Given the description of an element on the screen output the (x, y) to click on. 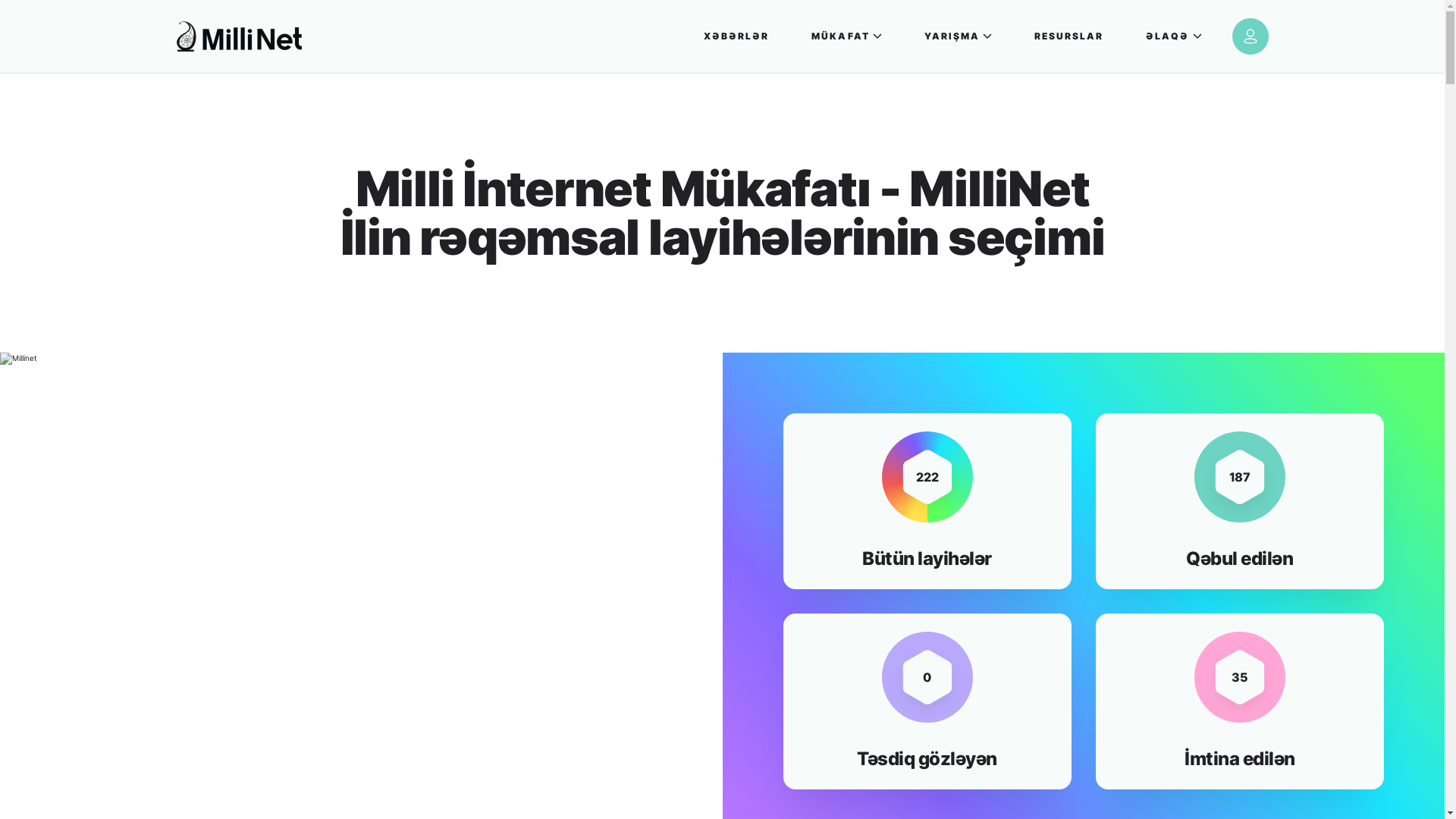
RESURSLAR Element type: text (1068, 36)
